Given the description of an element on the screen output the (x, y) to click on. 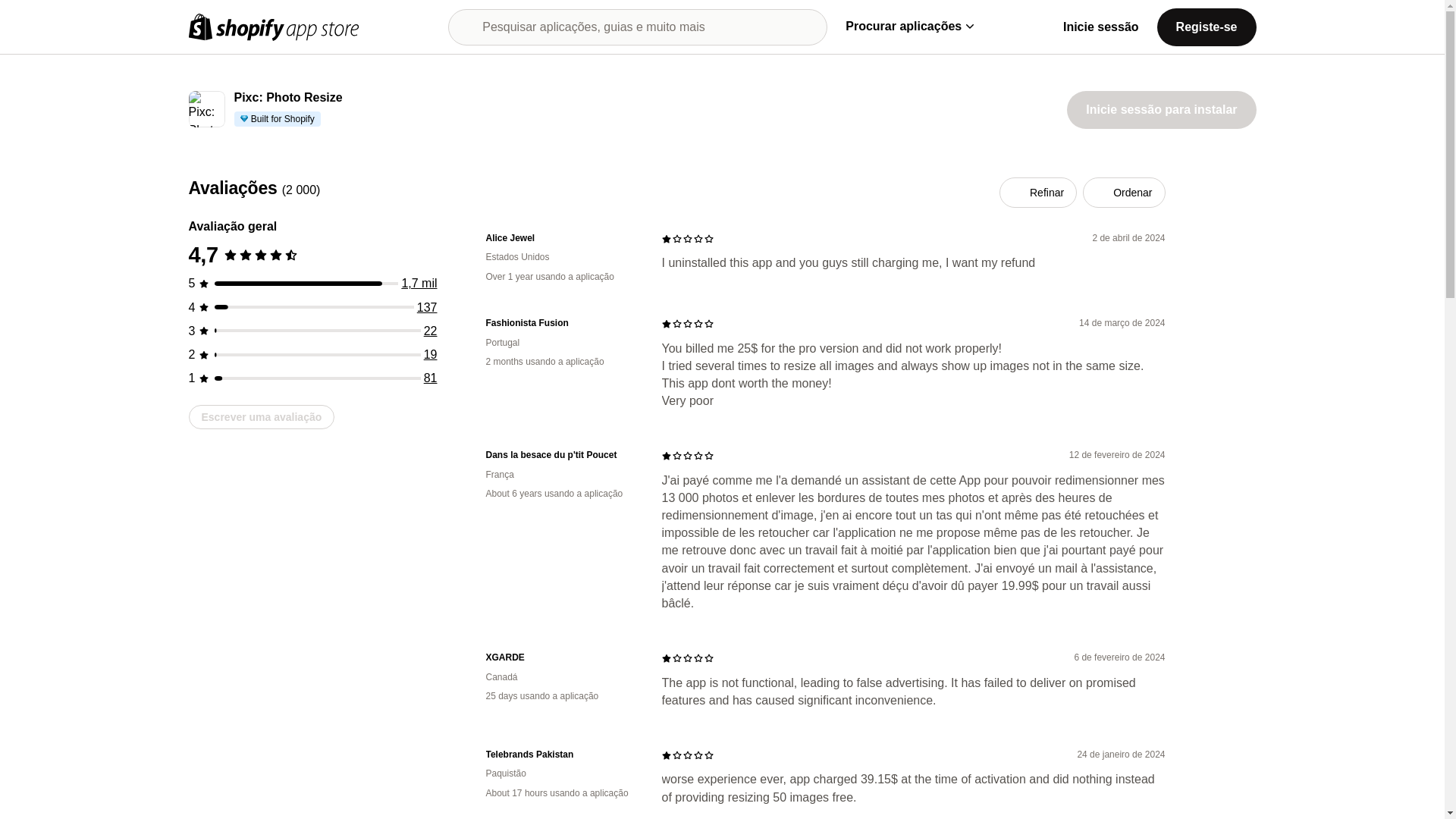
Registe-se (1206, 26)
Telebrands Pakistan (560, 754)
Pixc: Photo Resize (287, 97)
137 (427, 307)
Alice Jewel (560, 237)
XGARDE (560, 657)
Fashionista Fusion  (560, 323)
Refinar (1037, 192)
19 (430, 354)
Dans la besace du p'tit Poucet (560, 454)
1,7 mil (418, 282)
22 (430, 330)
81 (430, 377)
